Given the description of an element on the screen output the (x, y) to click on. 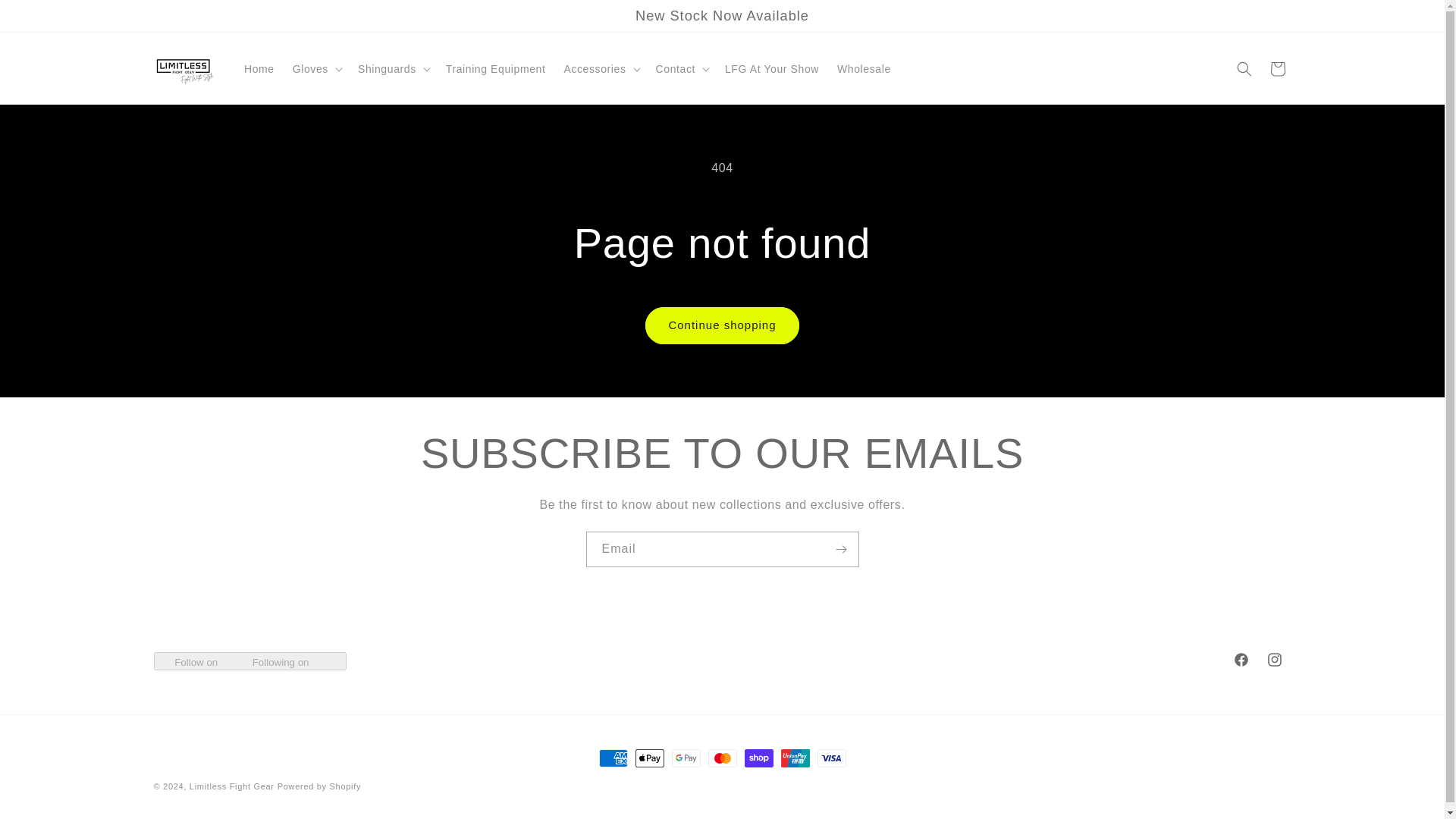
Training Equipment (495, 69)
Home (258, 69)
Skip to content (46, 18)
